Given the description of an element on the screen output the (x, y) to click on. 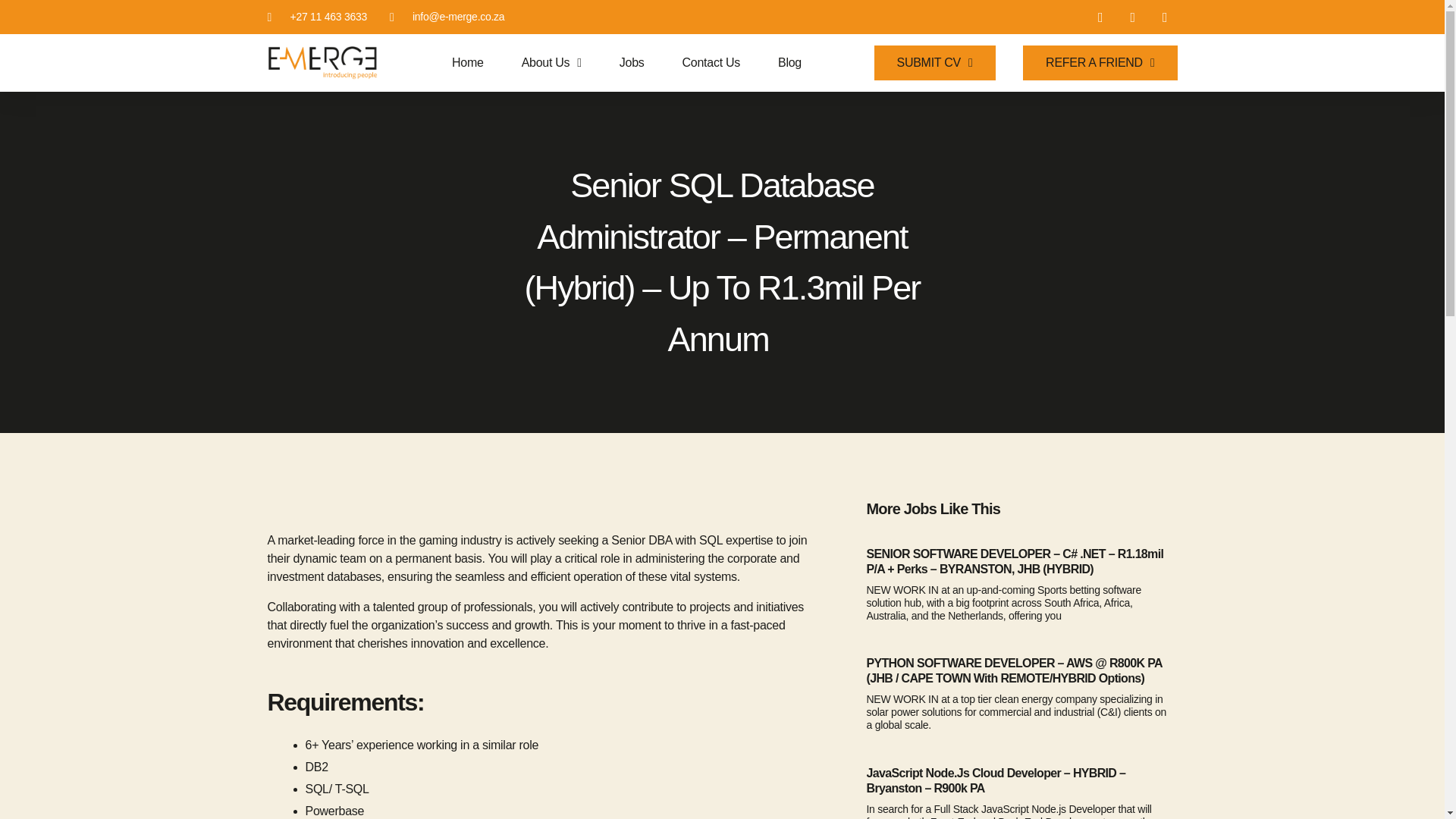
About Us (550, 62)
REFER A FRIEND (1099, 62)
Blog (789, 62)
Jobs (632, 62)
Contact Us (710, 62)
SUBMIT CV (935, 62)
Home (467, 62)
